Given the description of an element on the screen output the (x, y) to click on. 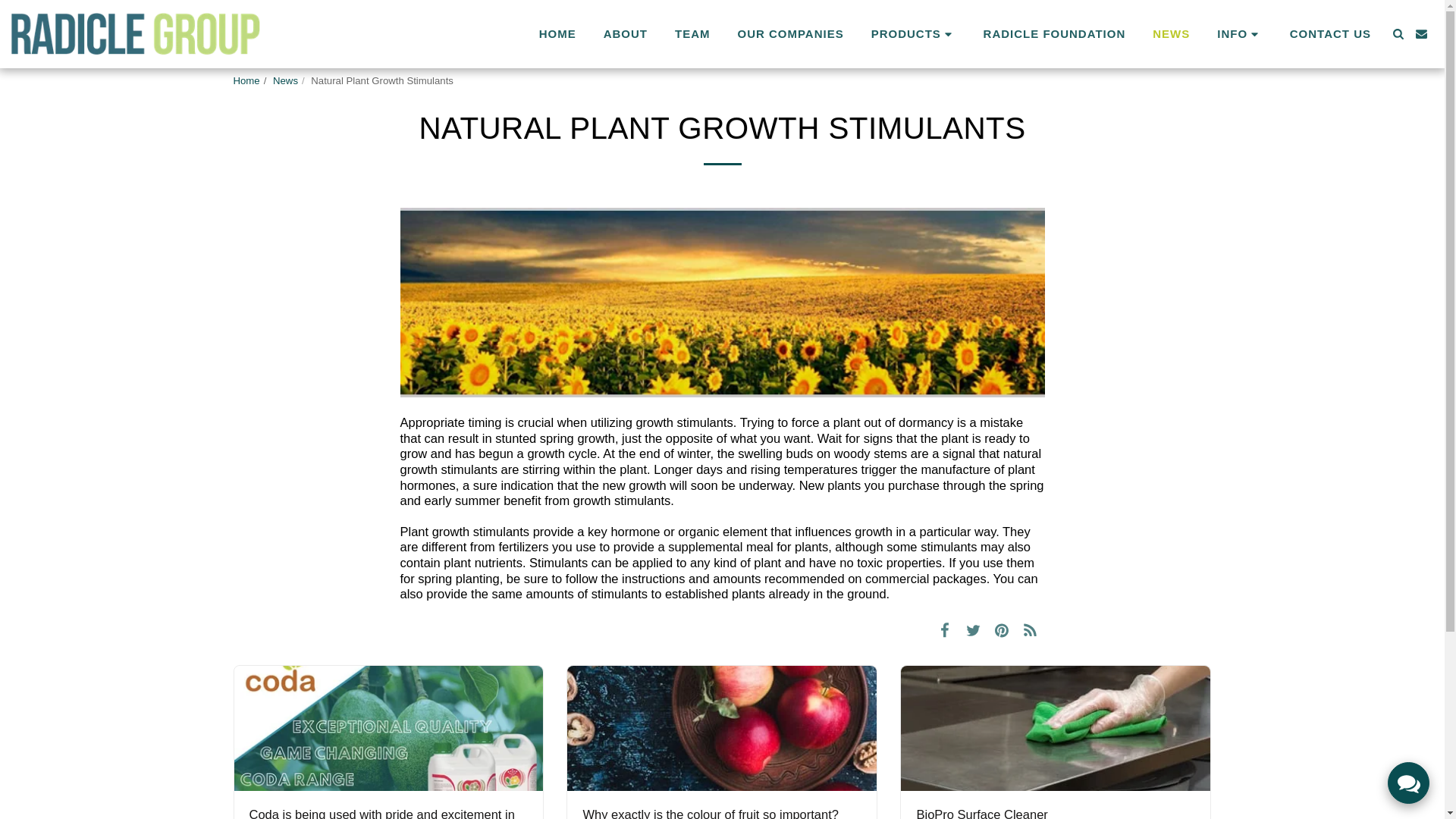
NEWS (1171, 33)
CONTACT US (1329, 33)
PRODUCTS   (914, 33)
HOME (557, 33)
Share on Facebook (945, 629)
ABOUT (625, 33)
Tweet (973, 629)
RSS (1029, 629)
TEAM (692, 33)
News (285, 80)
Home (246, 80)
Pin it (1002, 629)
INFO   (1239, 33)
OUR COMPANIES (789, 33)
